Given the description of an element on the screen output the (x, y) to click on. 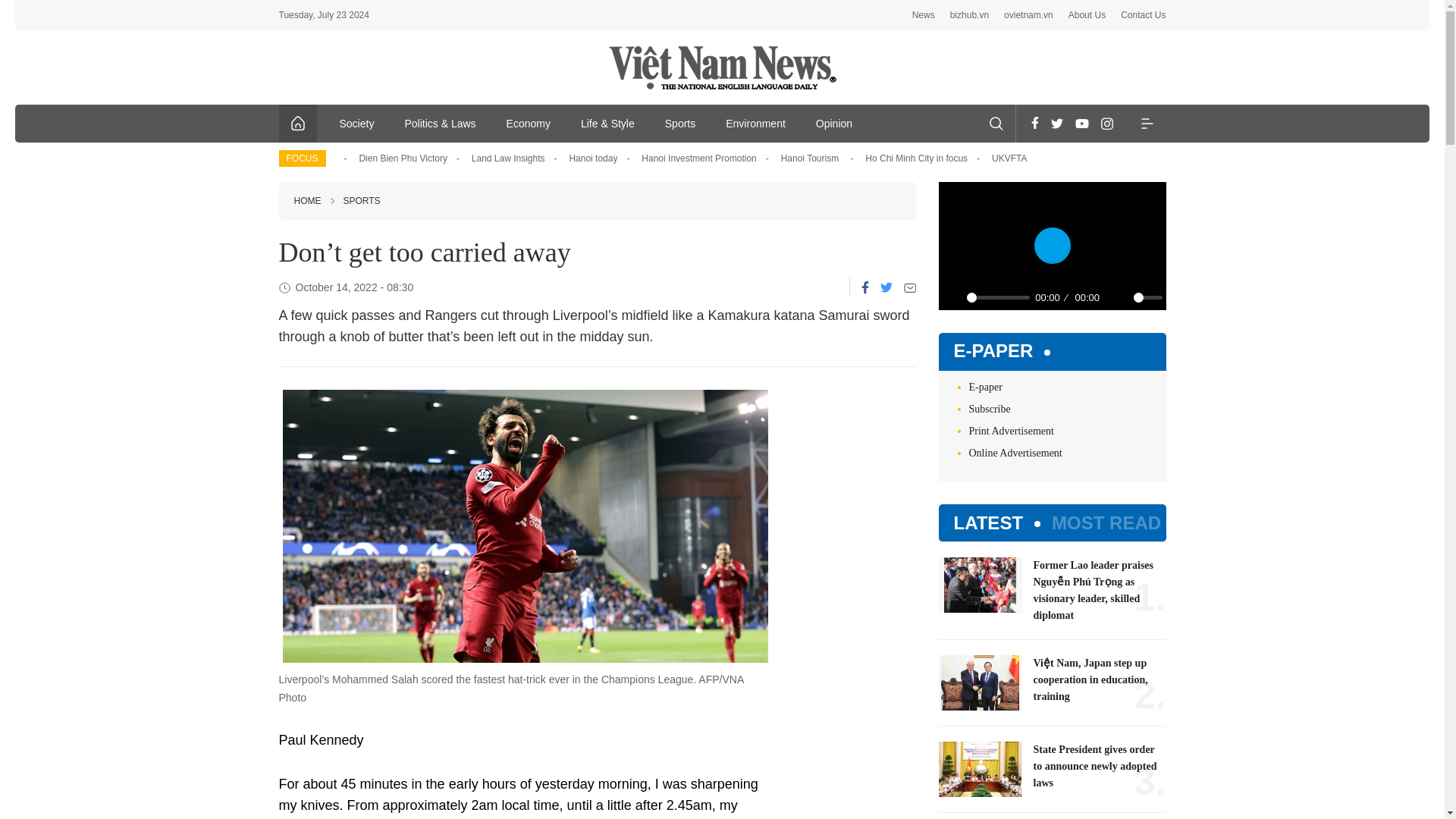
bizhub.vn (969, 15)
Sports (679, 123)
Environment (755, 123)
0 (1146, 297)
ovietnam.vn (1028, 15)
Society (357, 123)
Facebook (1035, 123)
Economy (529, 123)
Opinion (833, 123)
Twitter (885, 286)
About Us (1086, 15)
News (923, 15)
Instagram (1106, 123)
Contact Us (1143, 15)
Email (909, 286)
